Given the description of an element on the screen output the (x, y) to click on. 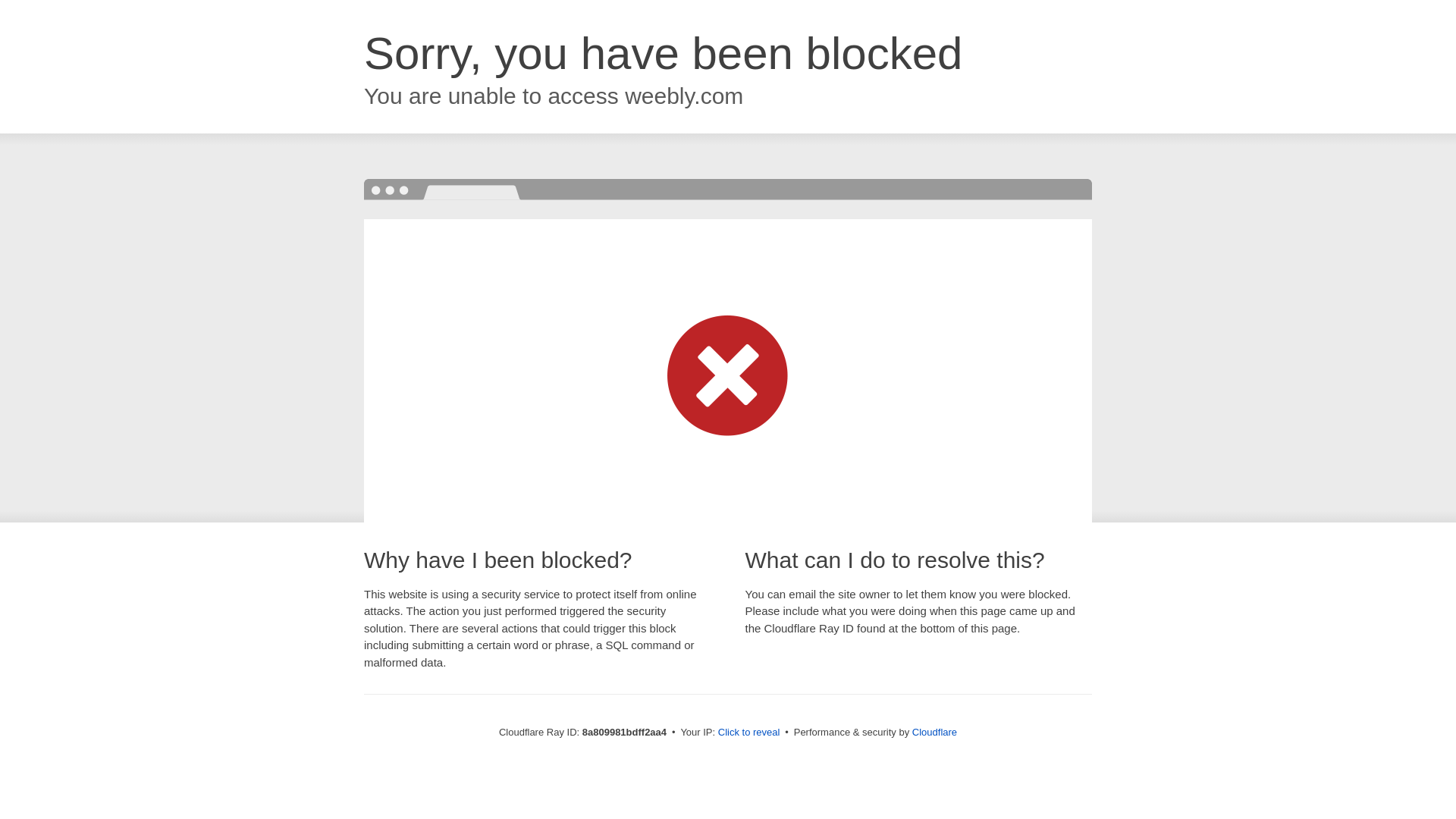
Click to reveal (748, 732)
Cloudflare (934, 731)
